Given the description of an element on the screen output the (x, y) to click on. 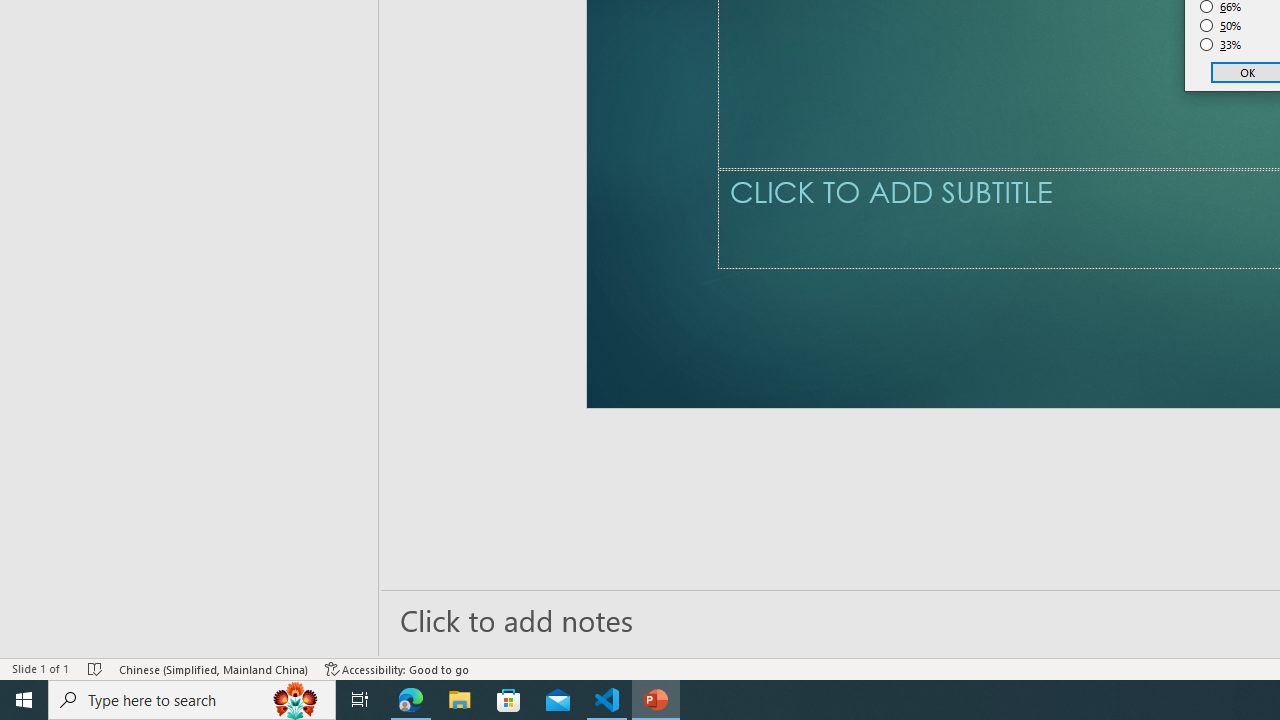
Language English (United States) (328, 640)
Word Count 2 words (149, 640)
Spelling and Grammar Check No Errors (216, 640)
AutomationID: DynamicSearchBoxGleamImage (1138, 687)
Accessibility Checker Accessibility: Good to go (531, 640)
Page Number Page 1 of 1 (55, 640)
AutomationID: BadgeAnchorLargeTicker (46, 686)
